Given the description of an element on the screen output the (x, y) to click on. 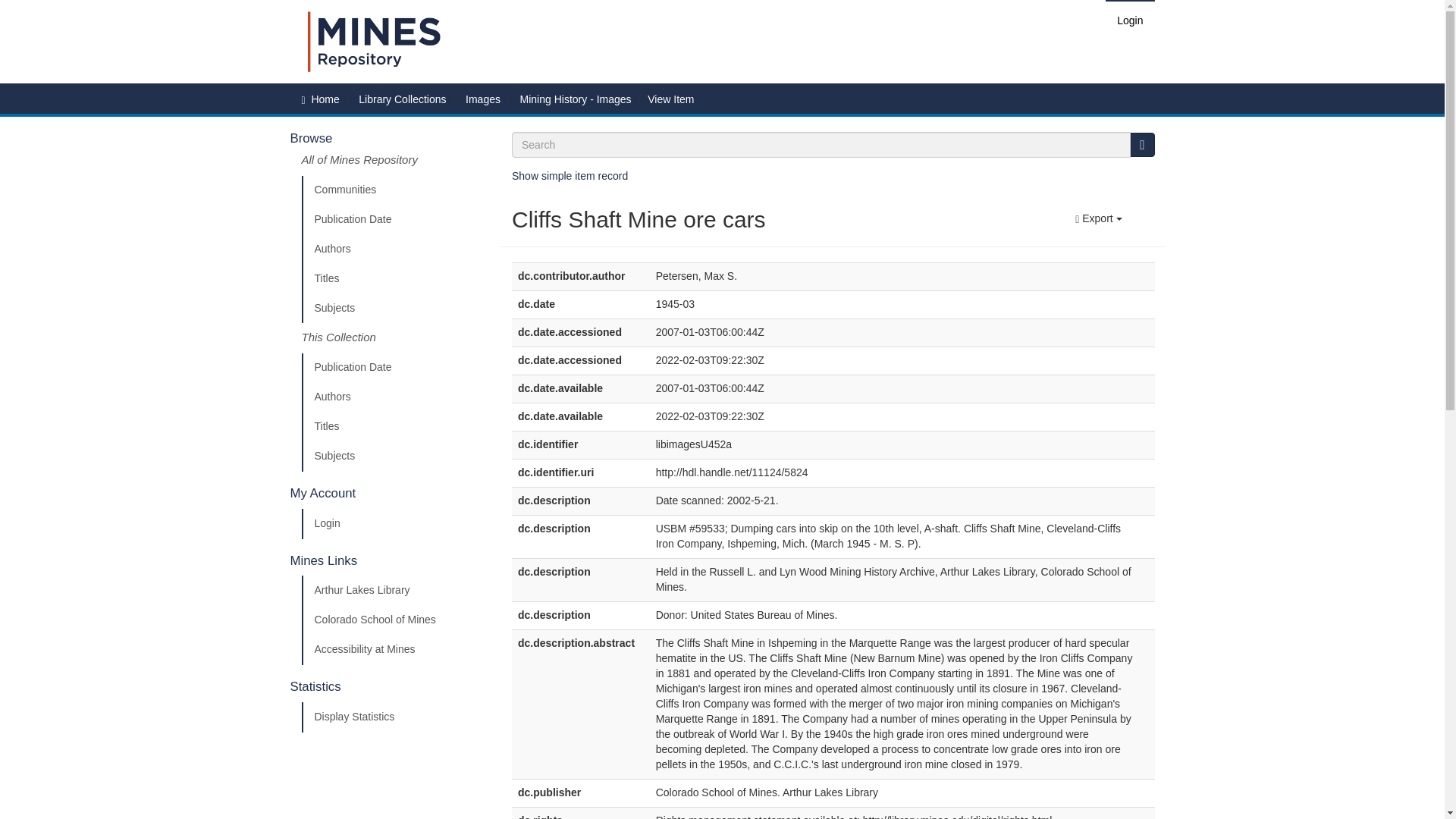
Subjects (395, 308)
Publication Date (395, 367)
Mining History - Images (575, 99)
Colorado School of Mines (395, 620)
Login (395, 523)
Arthur Lakes Library (395, 590)
This Collection (395, 337)
Display Statistics (395, 716)
Authors (395, 249)
Library Collections (401, 99)
All of Mines Repository (395, 164)
Authors (395, 397)
Titles (395, 278)
Go (1141, 144)
Titles (395, 426)
